Given the description of an element on the screen output the (x, y) to click on. 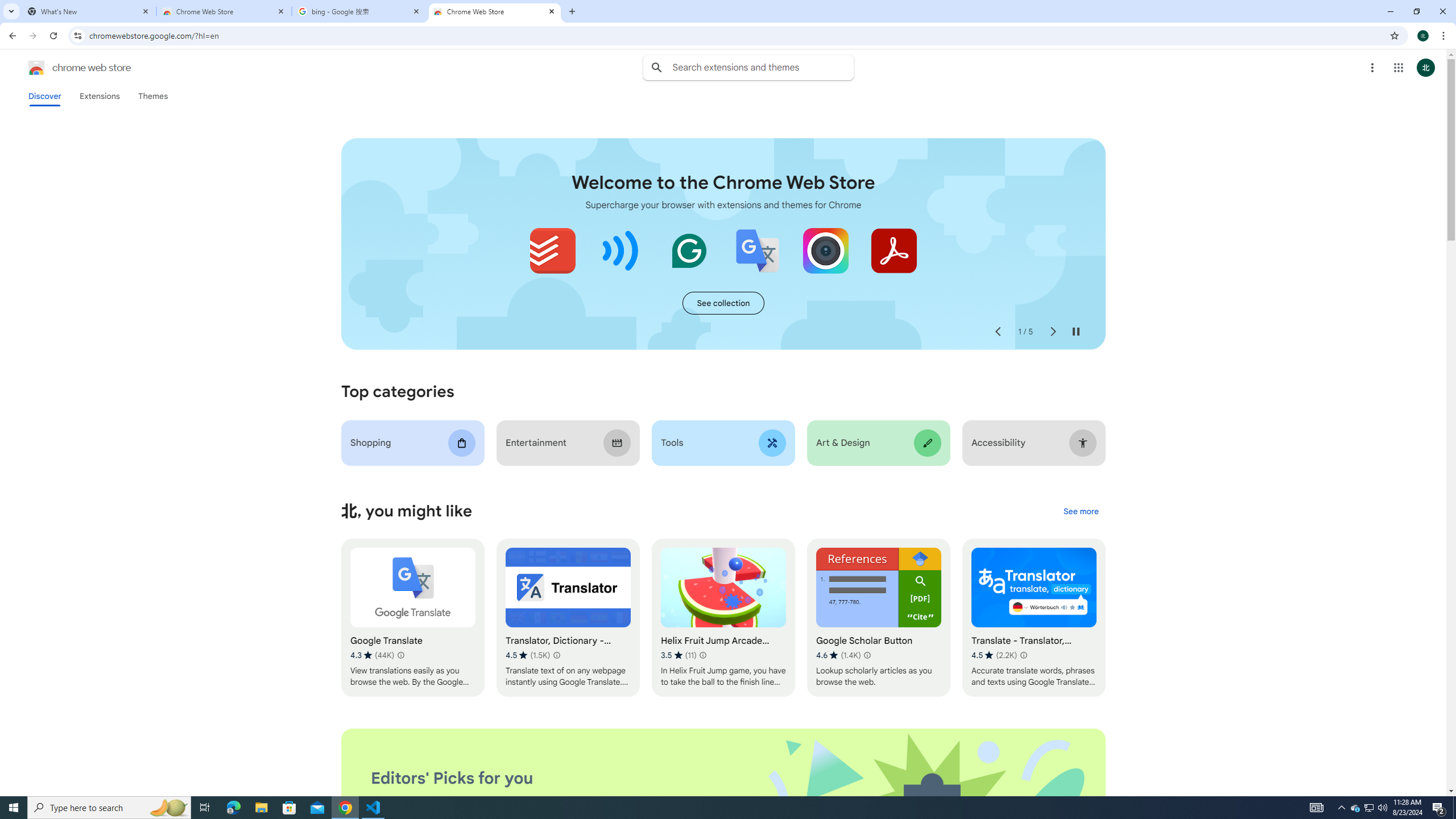
Grammarly: AI Writing and Grammar Checker App (689, 250)
Average rating 3.5 out of 5 stars. 11 ratings. (679, 655)
Google Translate (412, 617)
Awesome Screen Recorder & Screenshot (825, 250)
What's New (88, 11)
Learn more about results and reviews "Google Translate" (400, 655)
Themes (152, 95)
Tools (722, 443)
